Given the description of an element on the screen output the (x, y) to click on. 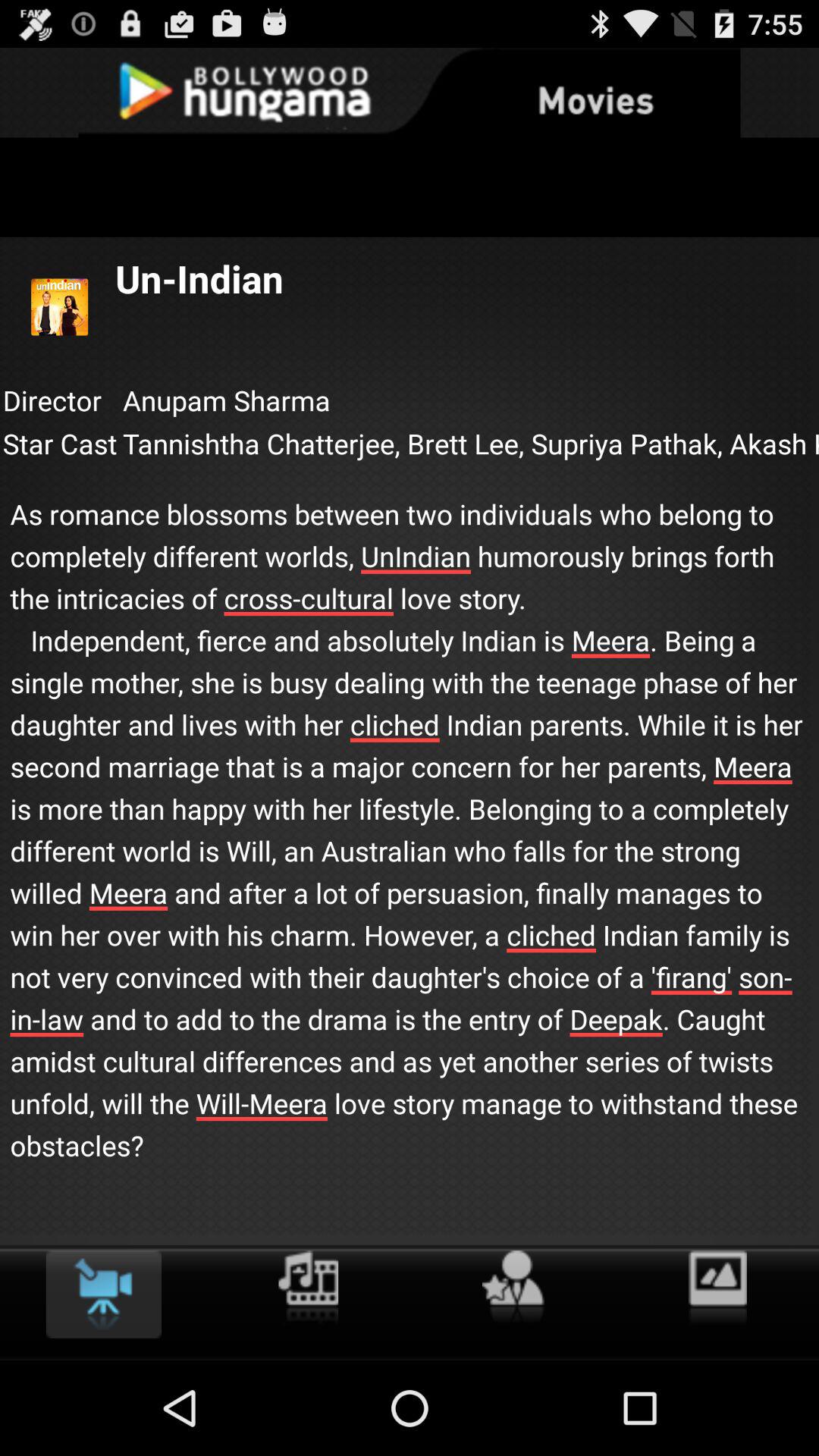
select icon below the star cast icon (409, 814)
